Given the description of an element on the screen output the (x, y) to click on. 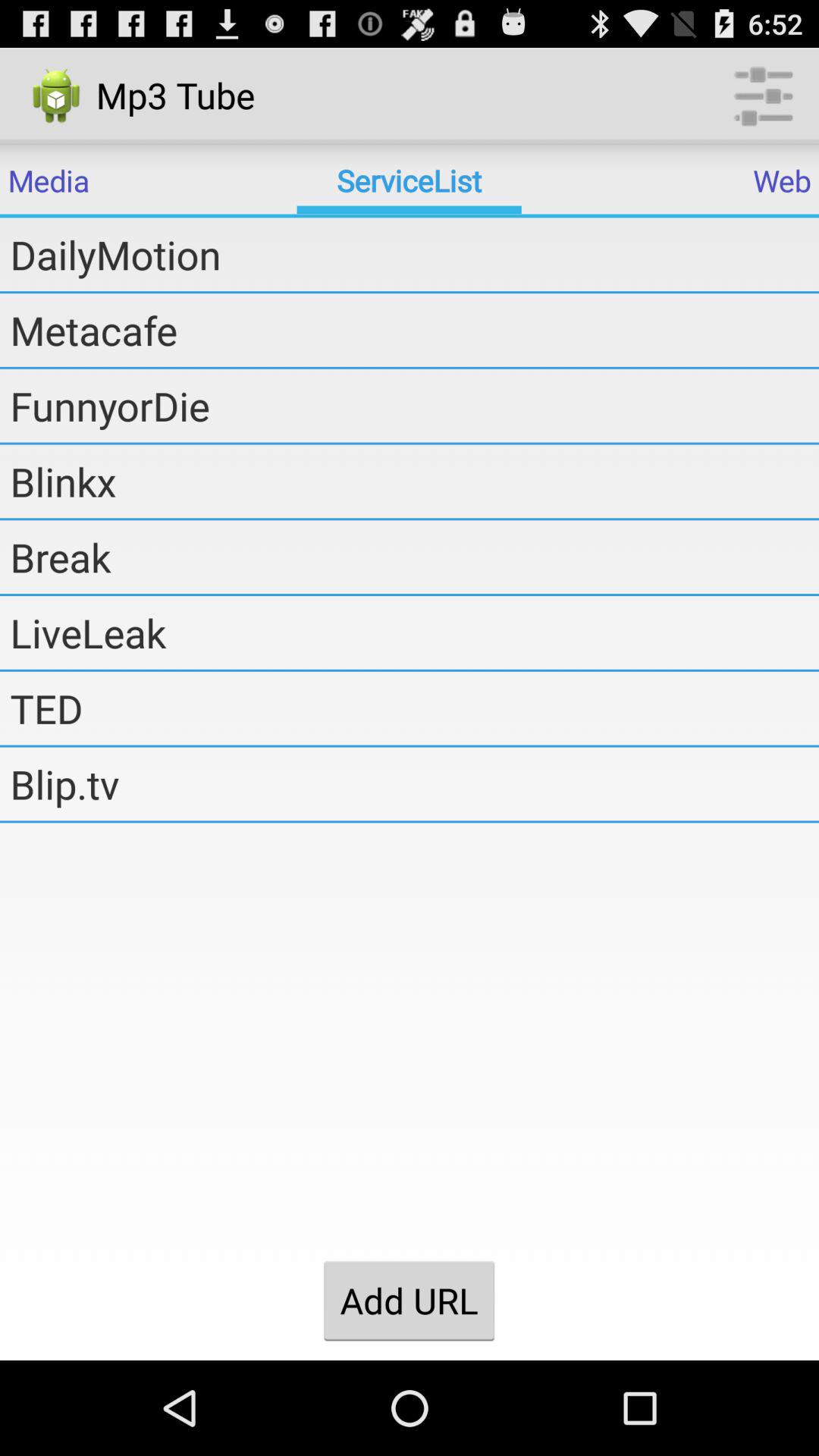
launch the blip.tv icon (414, 783)
